Given the description of an element on the screen output the (x, y) to click on. 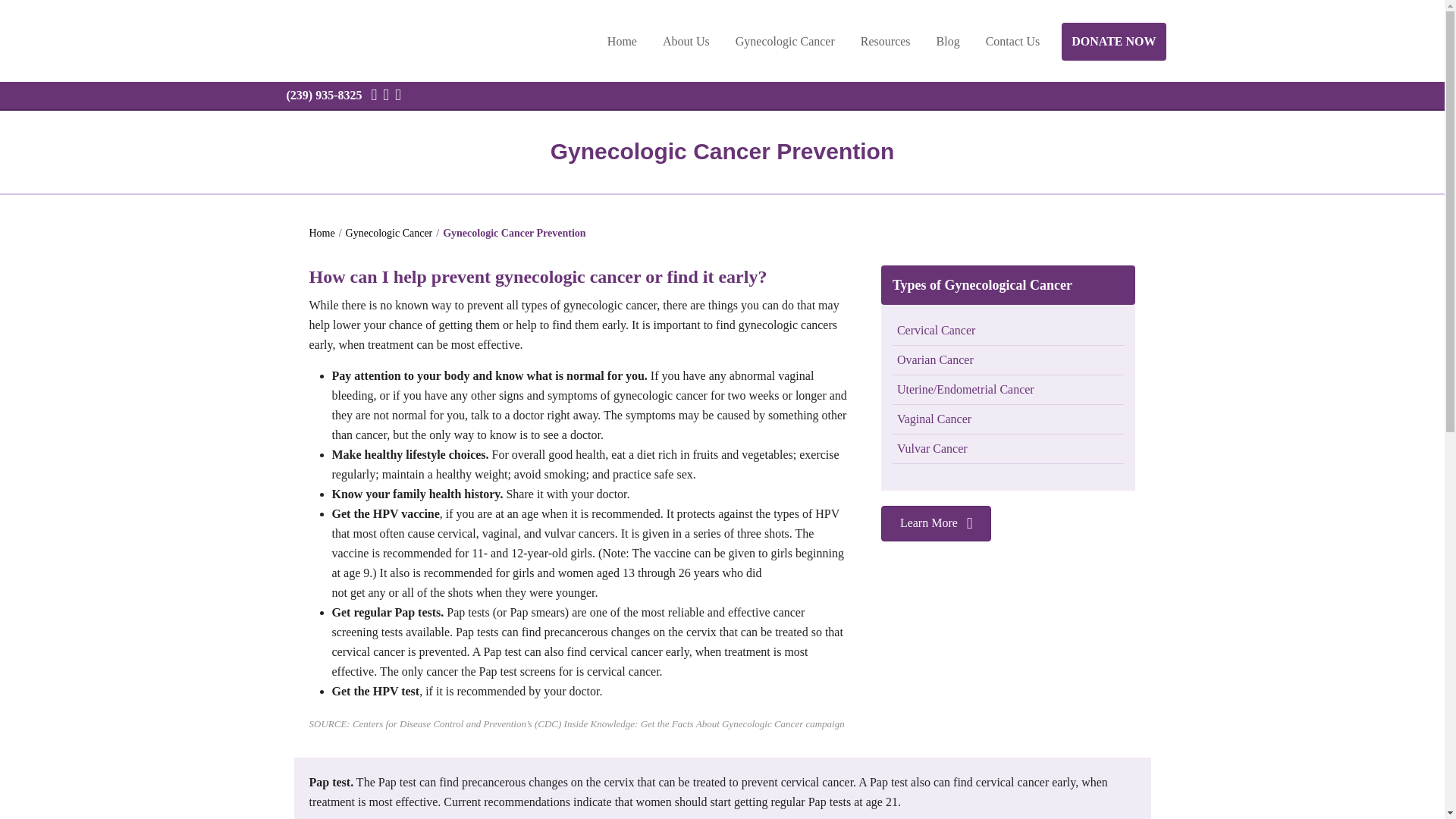
DONATE NOW (1113, 41)
Blog (947, 41)
About Us (685, 41)
Gynecologic Cancer (784, 41)
Contact Us (1012, 41)
Home (621, 41)
Gynecologic Cancer (389, 233)
Gynecologic Cancer Prevention (513, 233)
Betty Allen Gynecologic Cancer Foundation (365, 42)
